Given the description of an element on the screen output the (x, y) to click on. 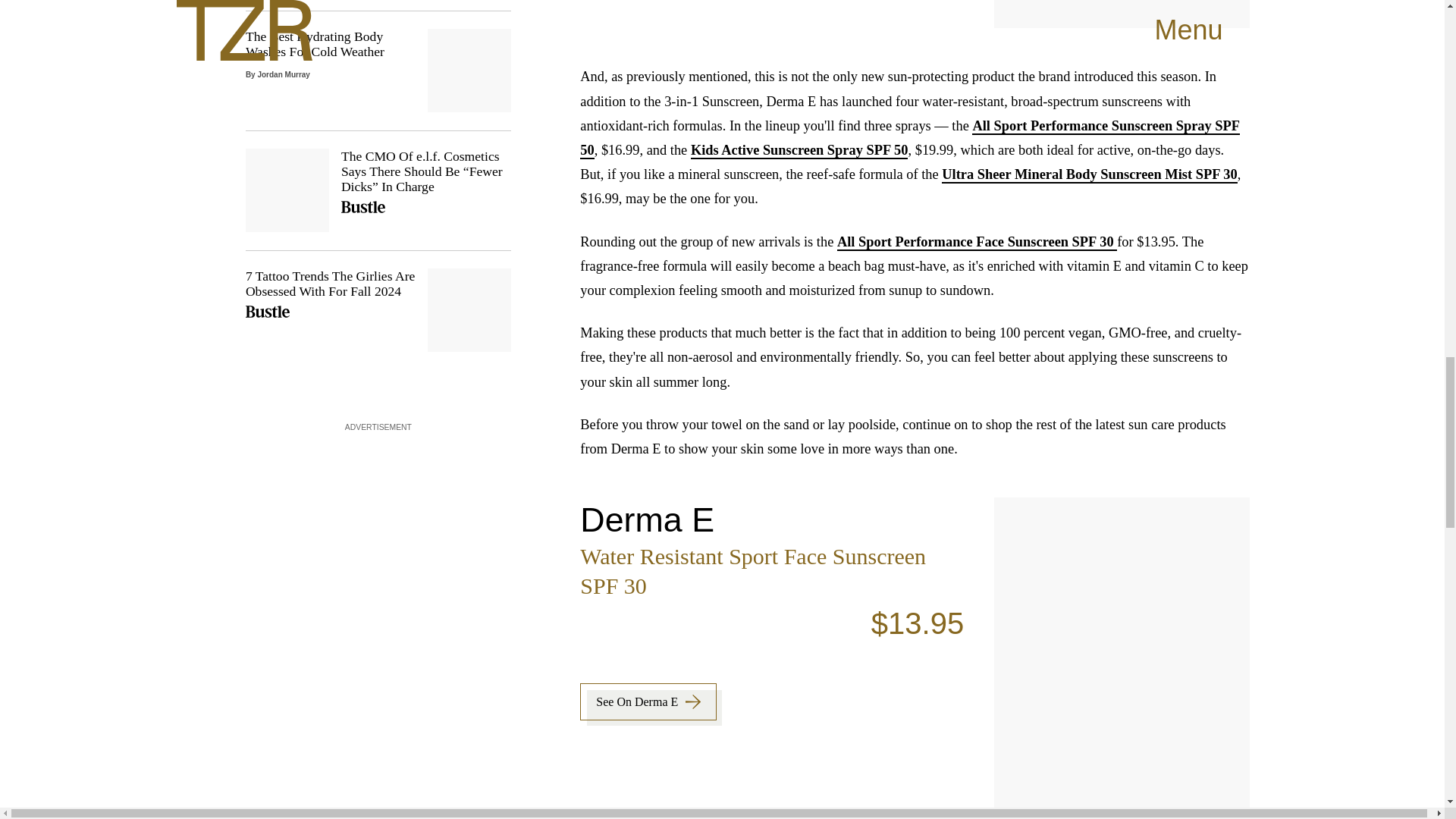
All Sport Performance Sunscreen Spray SPF 50 (909, 137)
Ultra Sheer Mineral Body Sunscreen Mist SPF 30 (378, 5)
See On Derma E (1089, 175)
All Sport Performance Face Sunscreen SPF 30 (648, 701)
Kids Active Sunscreen Spray SPF 50 (976, 242)
7 Tattoo Trends The Girlies Are Obsessed With For Fall 2024 (799, 150)
